Given the description of an element on the screen output the (x, y) to click on. 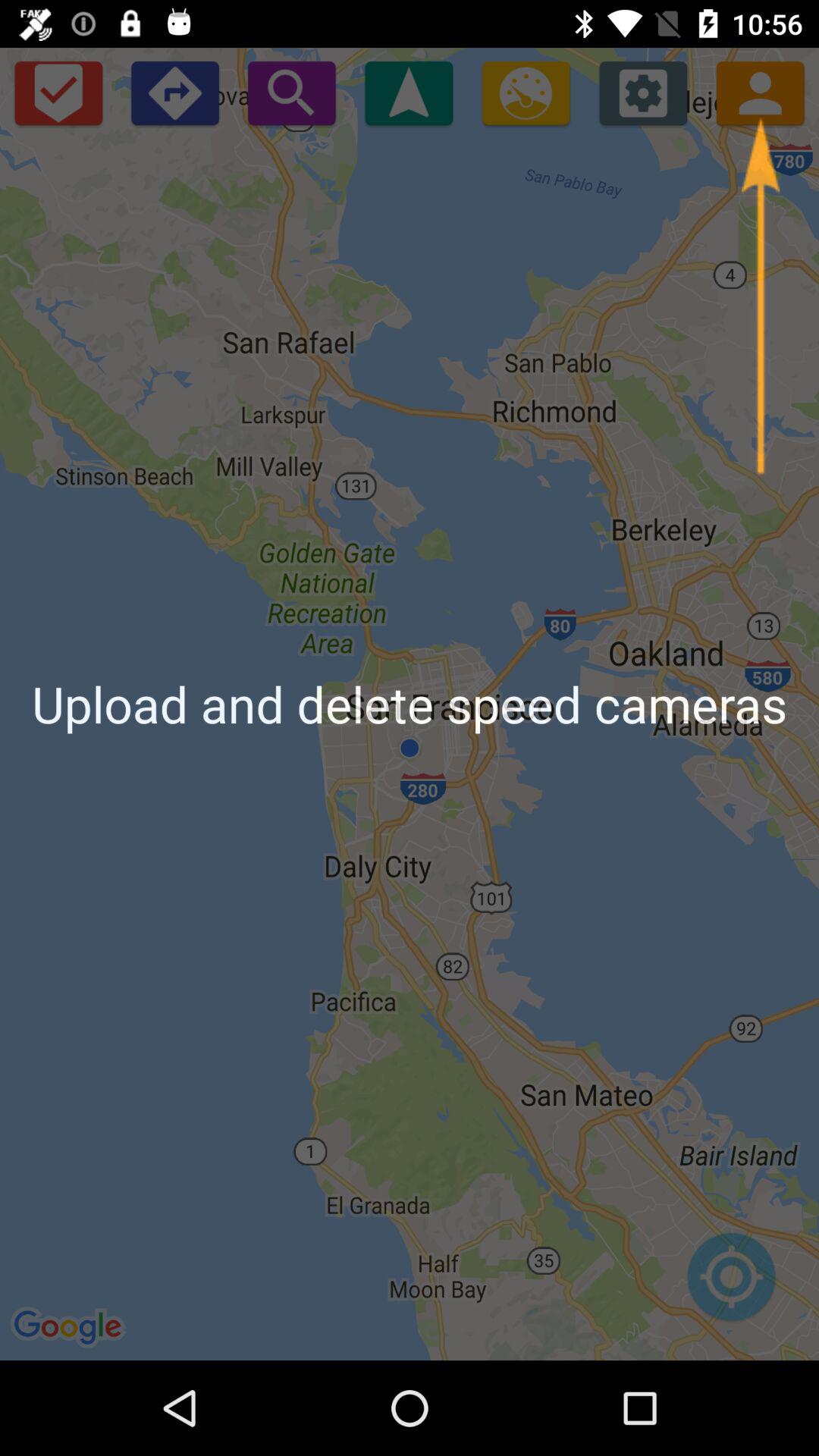
use search option (291, 92)
